Given the description of an element on the screen output the (x, y) to click on. 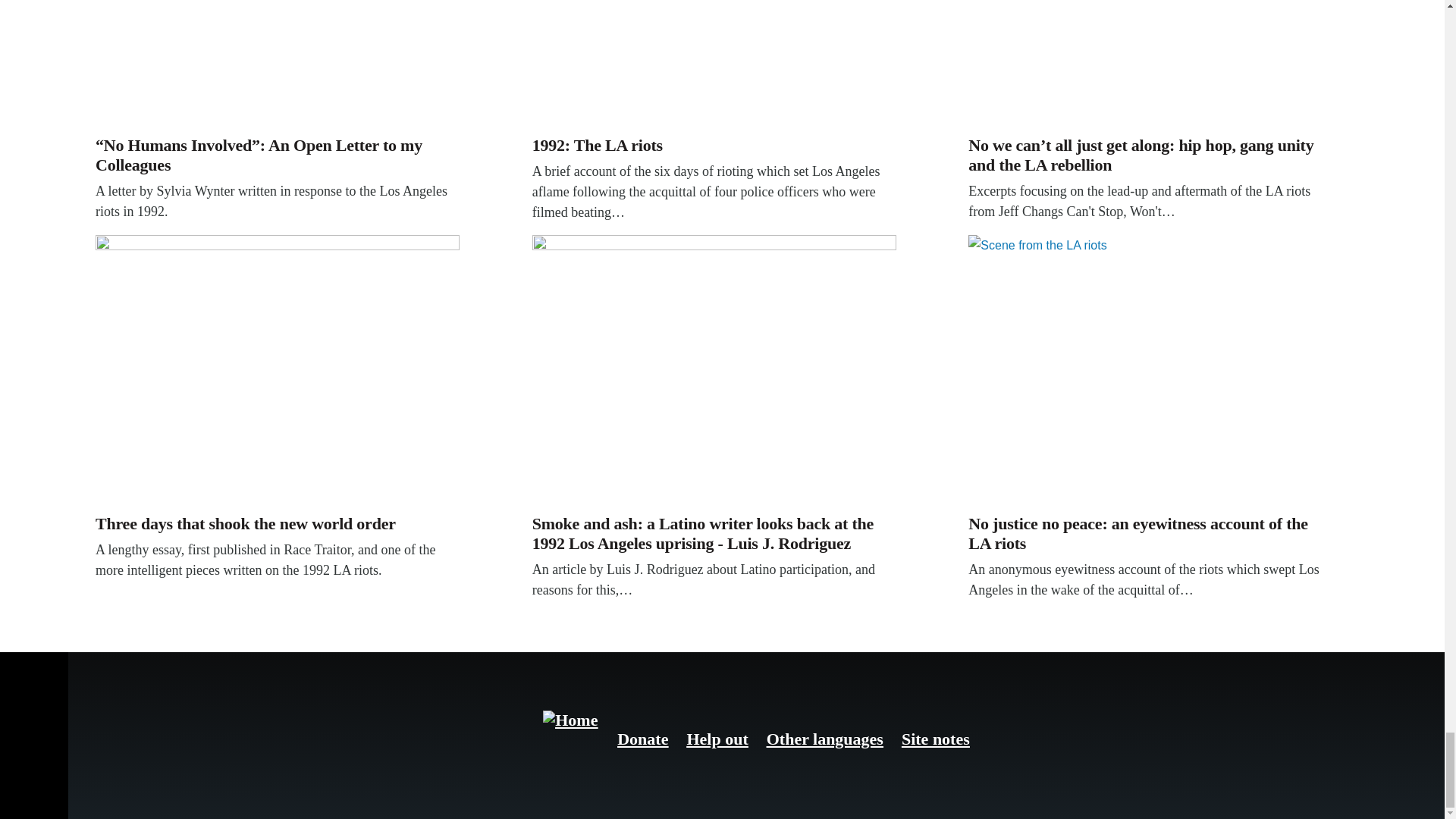
libcom content in languages other than English (825, 738)
Sylvia Wynter (278, 64)
Scene from the LA riots (1150, 371)
